Given the description of an element on the screen output the (x, y) to click on. 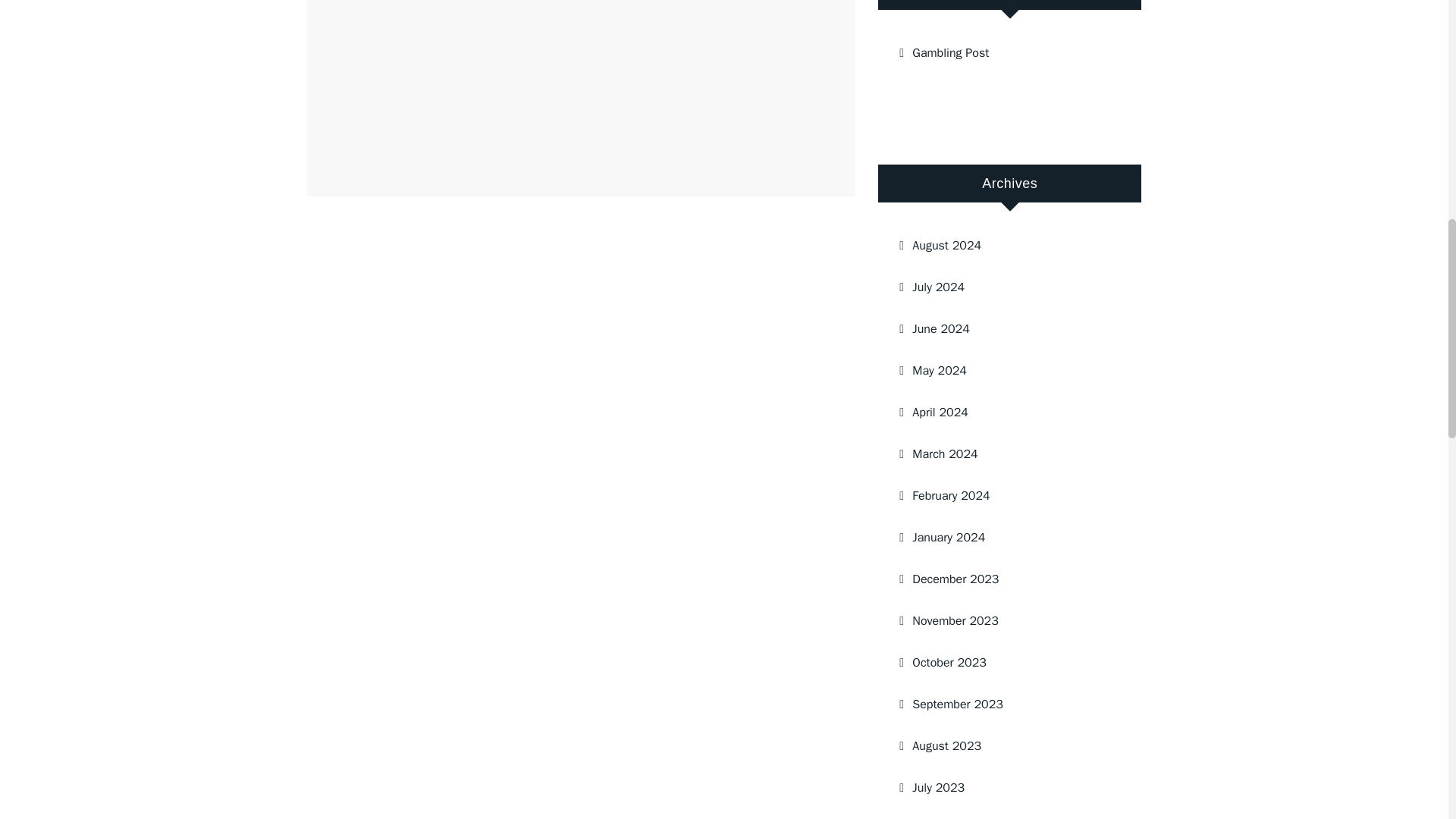
September 2023 (1003, 703)
January 2024 (1003, 536)
July 2023 (1003, 787)
August 2024 (1003, 245)
May 2024 (1003, 370)
December 2023 (1003, 578)
April 2024 (1003, 412)
March 2024 (1003, 454)
June 2023 (1003, 814)
August 2023 (1003, 745)
